Given the description of an element on the screen output the (x, y) to click on. 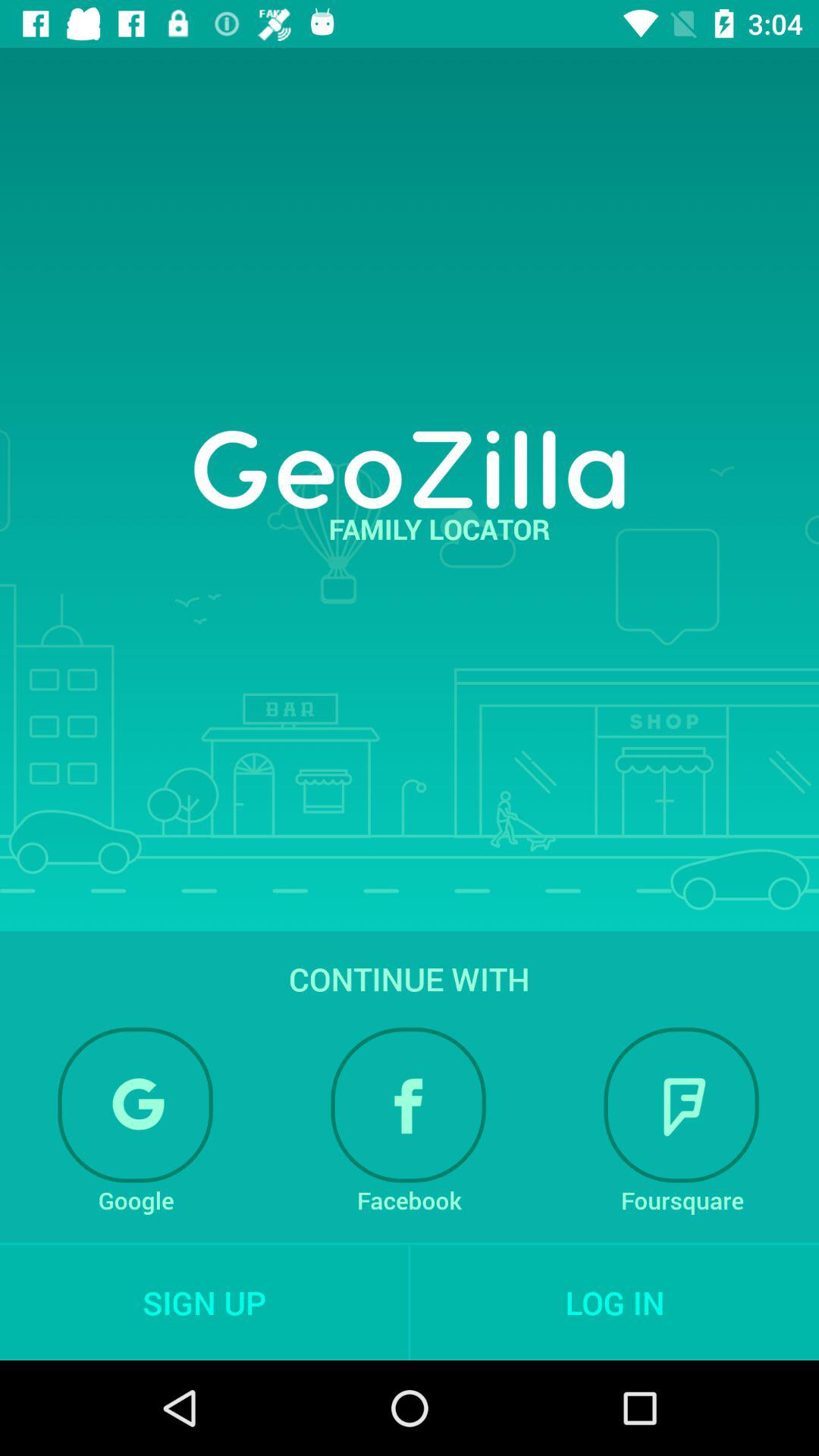
click the item below continue with item (408, 1105)
